Given the description of an element on the screen output the (x, y) to click on. 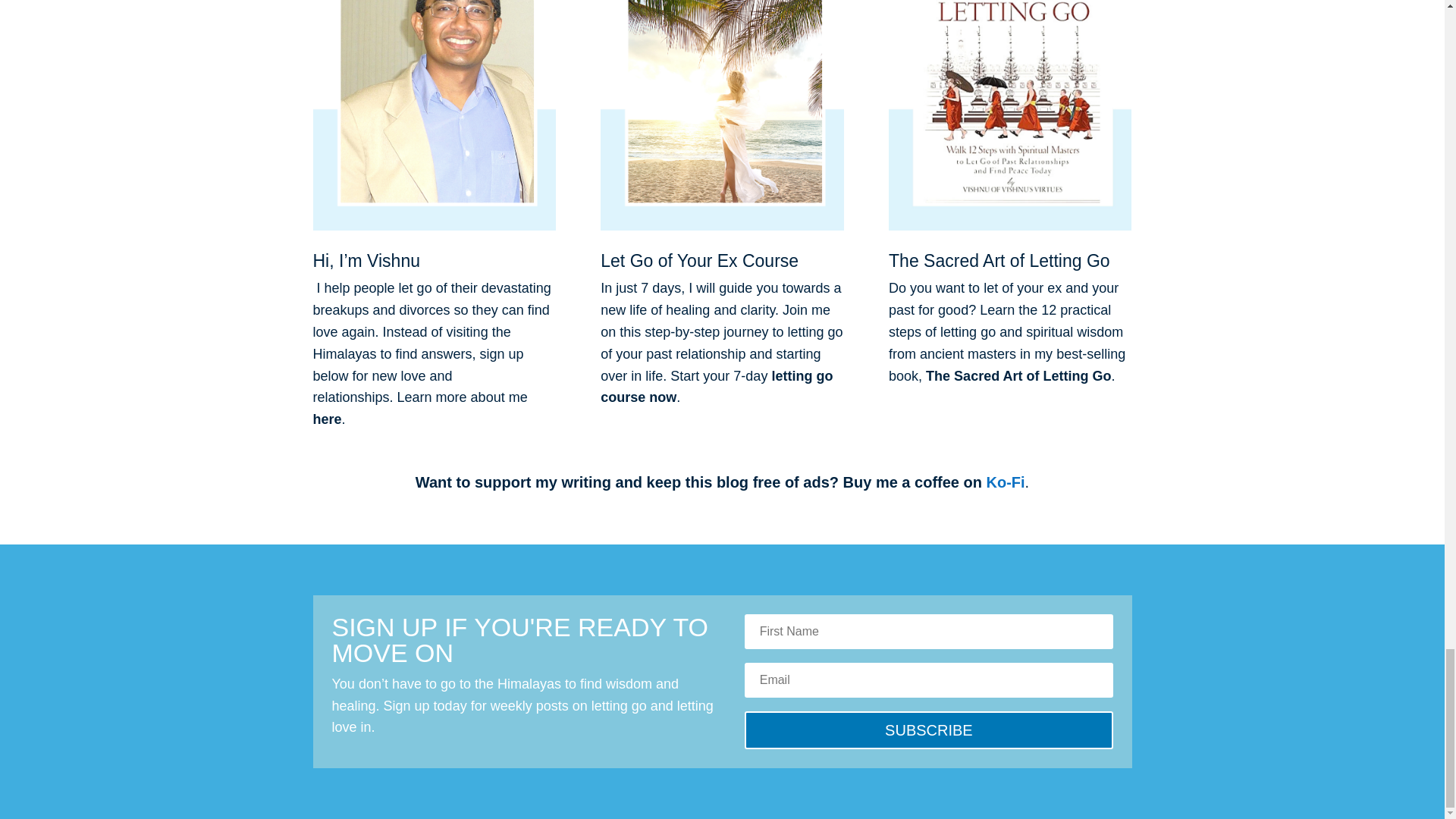
The Sacred Art of Letting Go (1018, 376)
letting go course now (715, 386)
here (326, 418)
Ko-Fi (1005, 482)
SUBSCRIBE (928, 730)
